Given the description of an element on the screen output the (x, y) to click on. 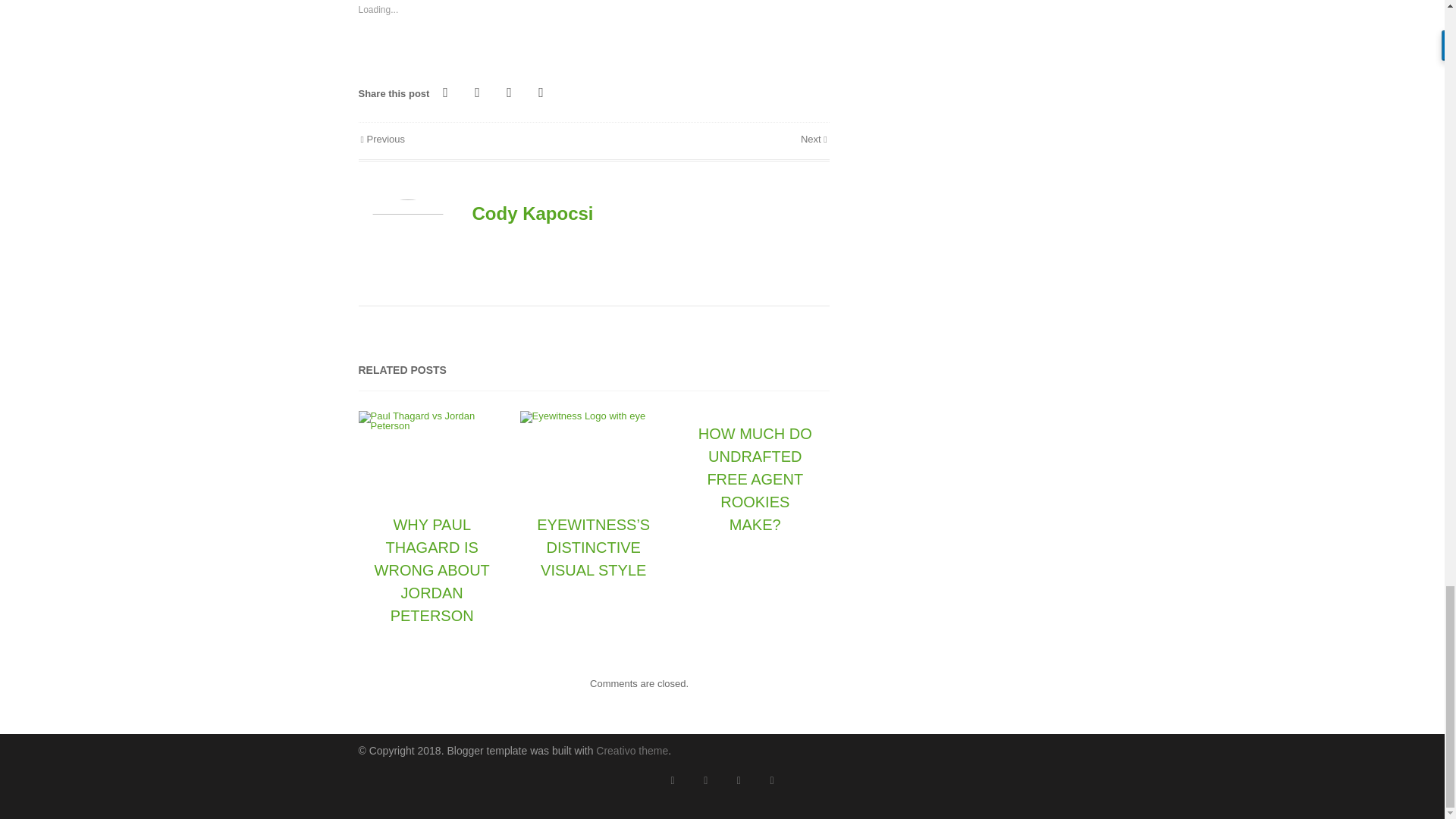
Posts by Cody Kapocsi (531, 213)
HOW MUCH DO UNDRAFTED FREE AGENT ROOKIES MAKE? (755, 479)
Cody Kapocsi (531, 213)
WHY PAUL THAGARD IS WRONG ABOUT JORDAN PETERSON (431, 570)
